Given the description of an element on the screen output the (x, y) to click on. 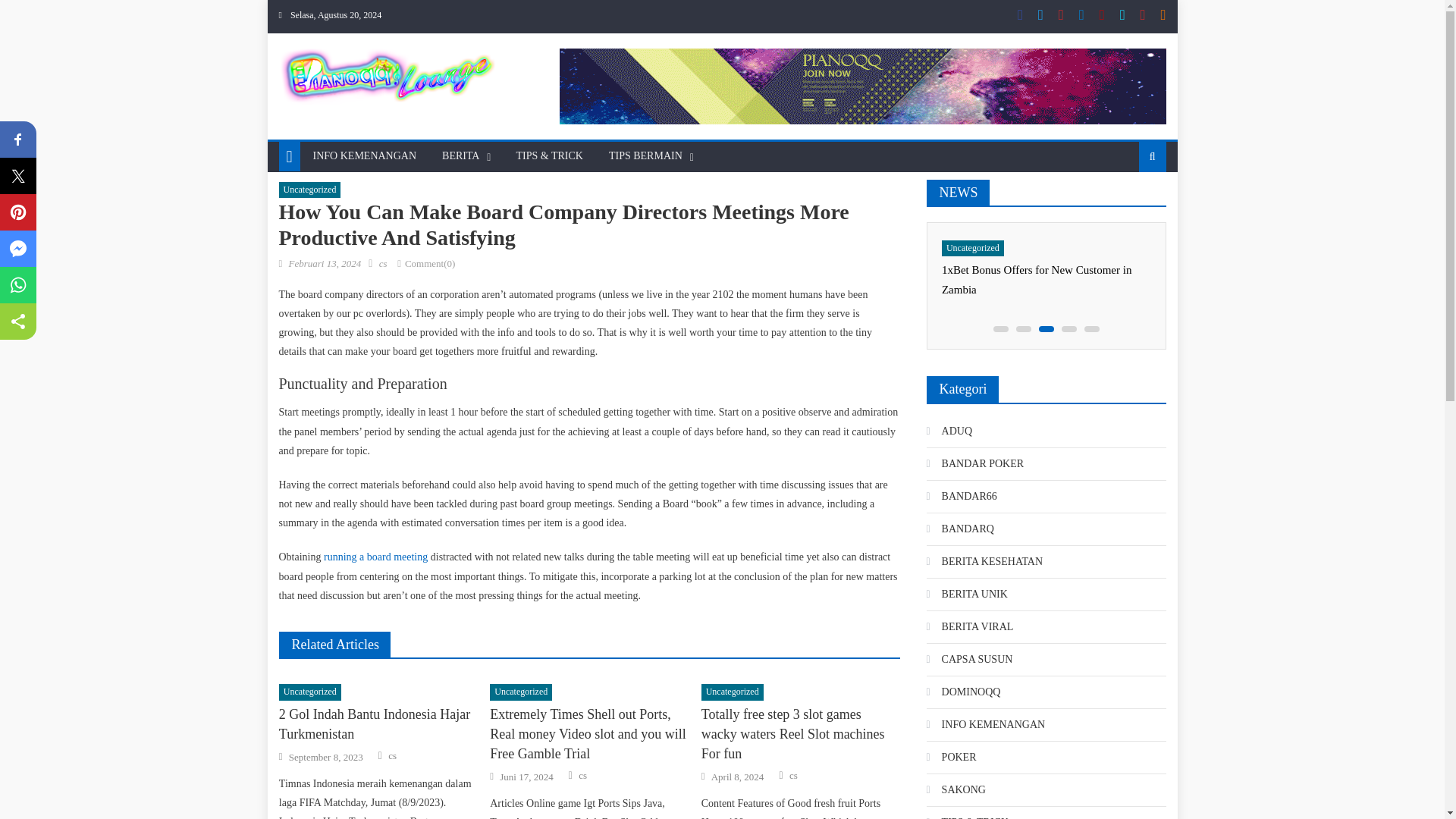
Februari 13, 2024 (324, 263)
running a board meeting (375, 556)
Cari (1128, 205)
BERITA (460, 155)
Uncategorized (309, 692)
Uncategorized (309, 190)
September 8, 2023 (325, 757)
2 Gol Indah Bantu Indonesia Hajar Turkmenistan (378, 723)
TIPS BERMAIN (645, 155)
INFO KEMENANGAN (364, 155)
